Given the description of an element on the screen output the (x, y) to click on. 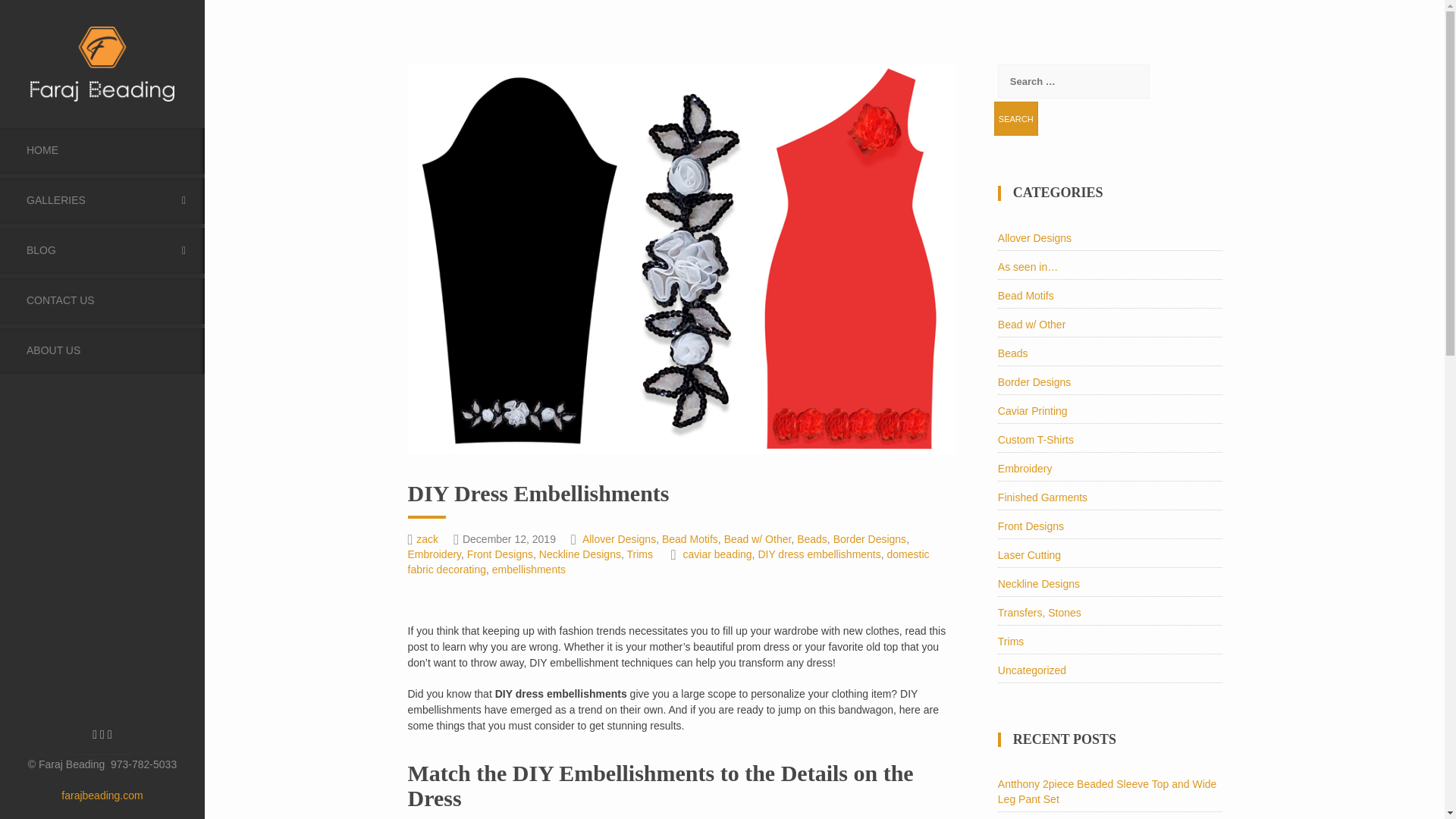
Front Designs (1030, 526)
Laser Cutting (1029, 554)
Custom T-Shirts (1035, 439)
Beads (1012, 353)
Allover Designs (1034, 237)
Search (1016, 118)
Border Designs (1034, 381)
BLOG (102, 250)
Search (1016, 118)
GALLERIES (102, 200)
